Given the description of an element on the screen output the (x, y) to click on. 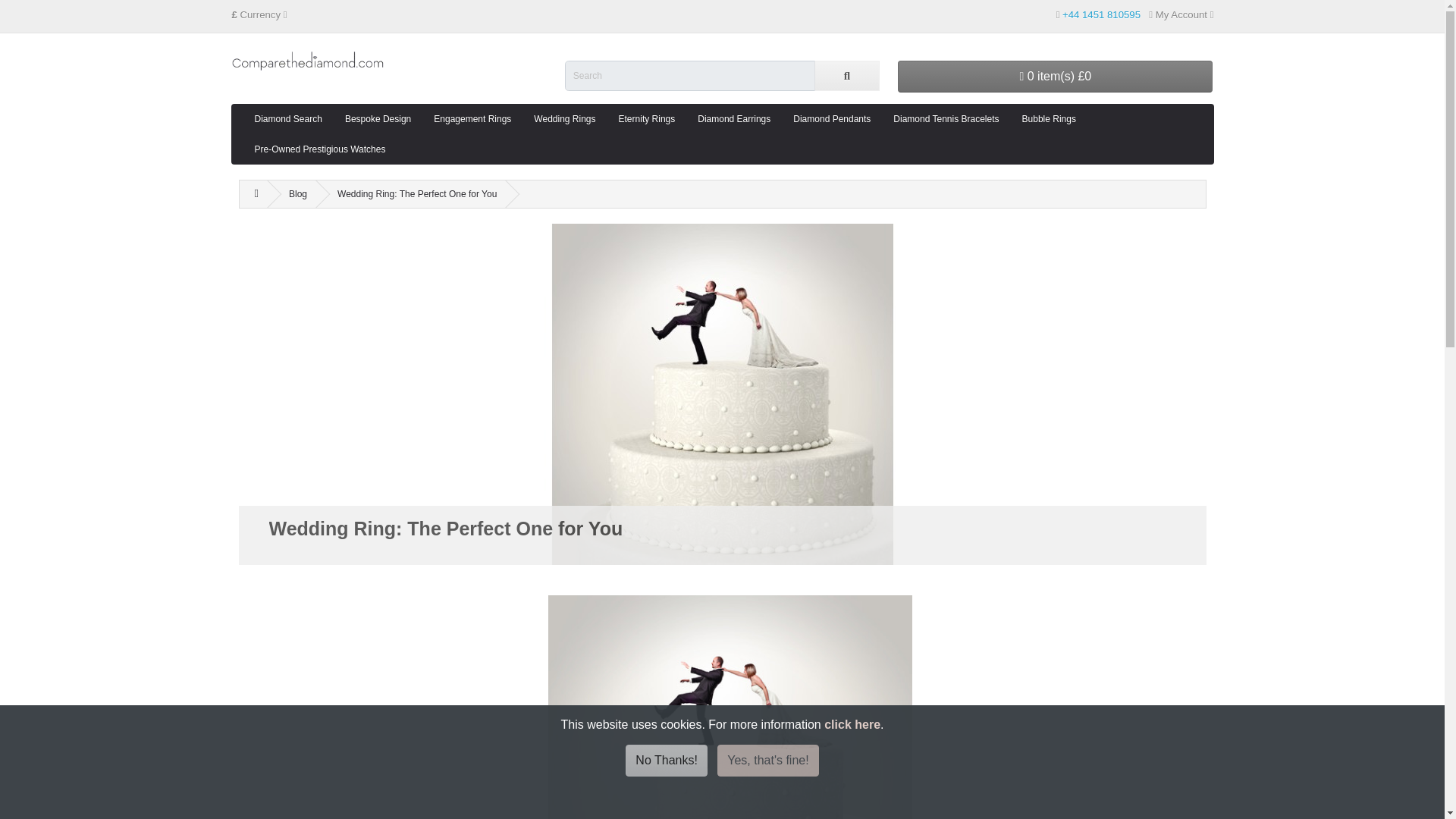
Engagement Rings (472, 119)
Bespoke Design (377, 119)
Eternity Rings (647, 119)
Wedding Rings (564, 119)
Diamond Search (288, 119)
Comparethediamond.com - Click with the best diamond jeweller (307, 60)
My Account (1180, 14)
